Given the description of an element on the screen output the (x, y) to click on. 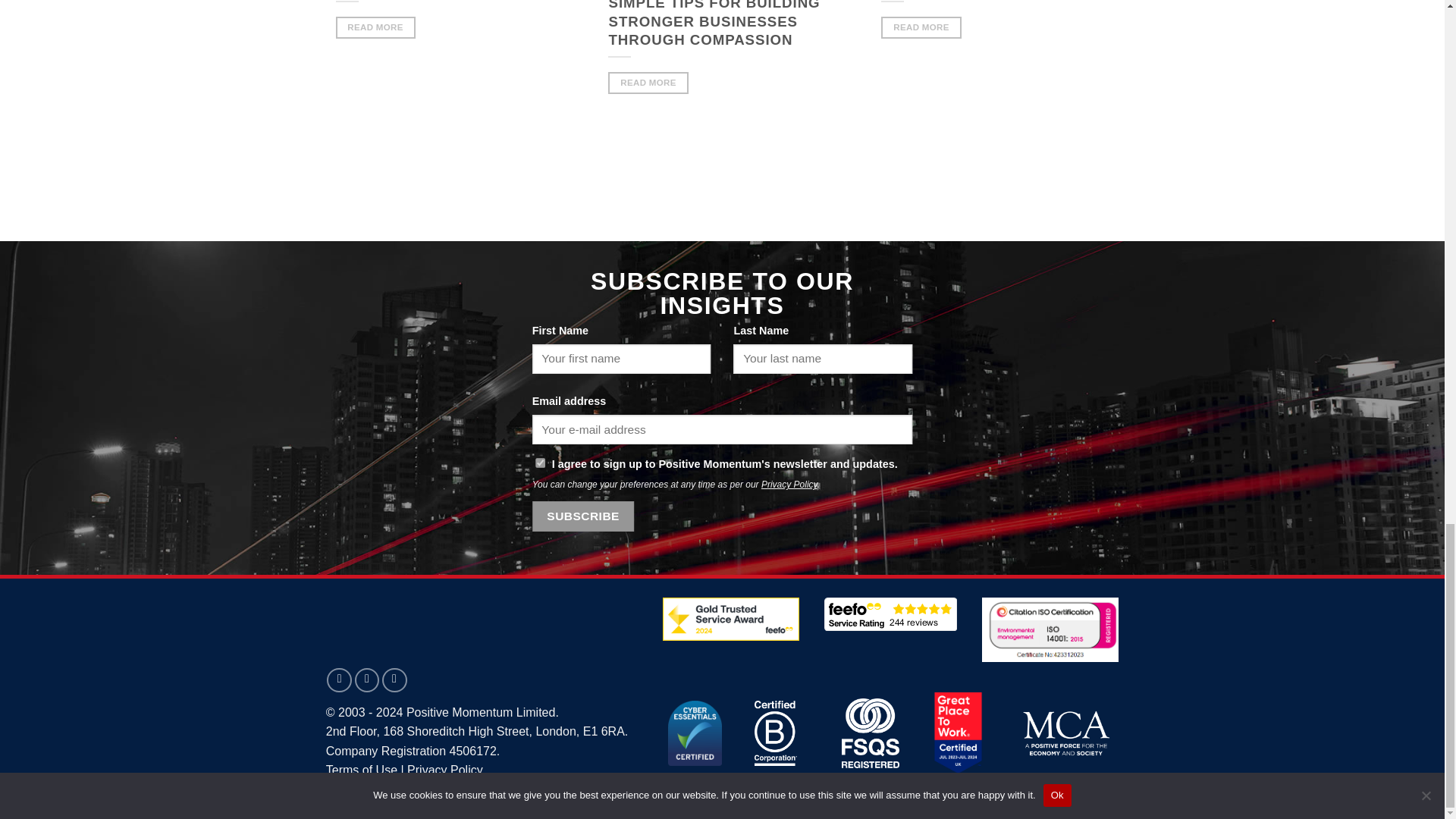
Follow on LinkedIn (367, 680)
See what our customers say about us (890, 613)
Follow on YouTube (394, 680)
1 (539, 462)
Send us an email (339, 680)
Subscribe (583, 515)
